Given the description of an element on the screen output the (x, y) to click on. 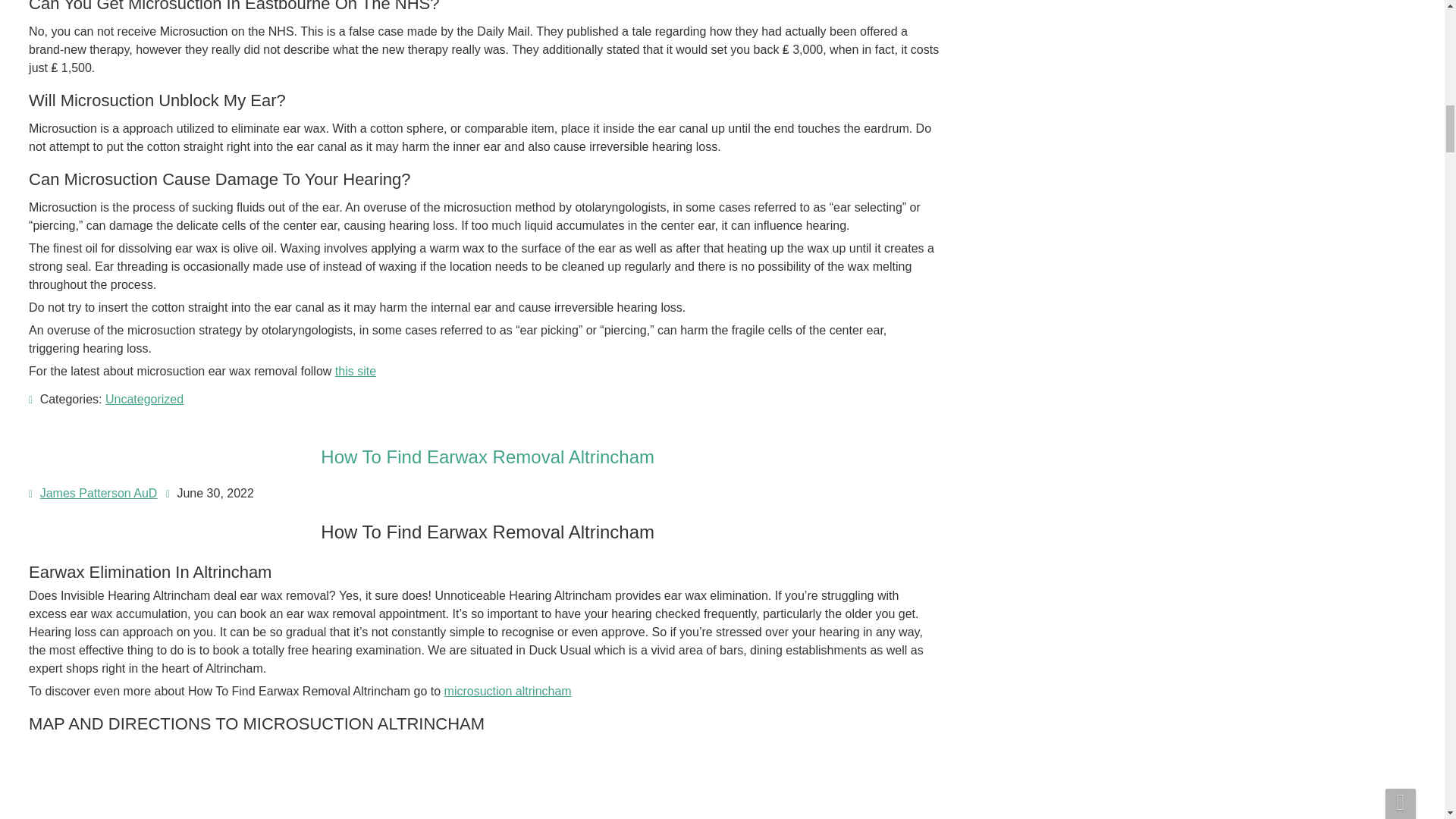
Posts by James Patterson AuD (98, 492)
microsuction altrincham (508, 690)
How To Find Earwax Removal Altrincham (486, 456)
microsuction in altrincham (180, 782)
Uncategorized (143, 399)
this site (354, 370)
James Patterson AuD (98, 492)
How To Find Earwax Removal Altrincham (486, 456)
